Given the description of an element on the screen output the (x, y) to click on. 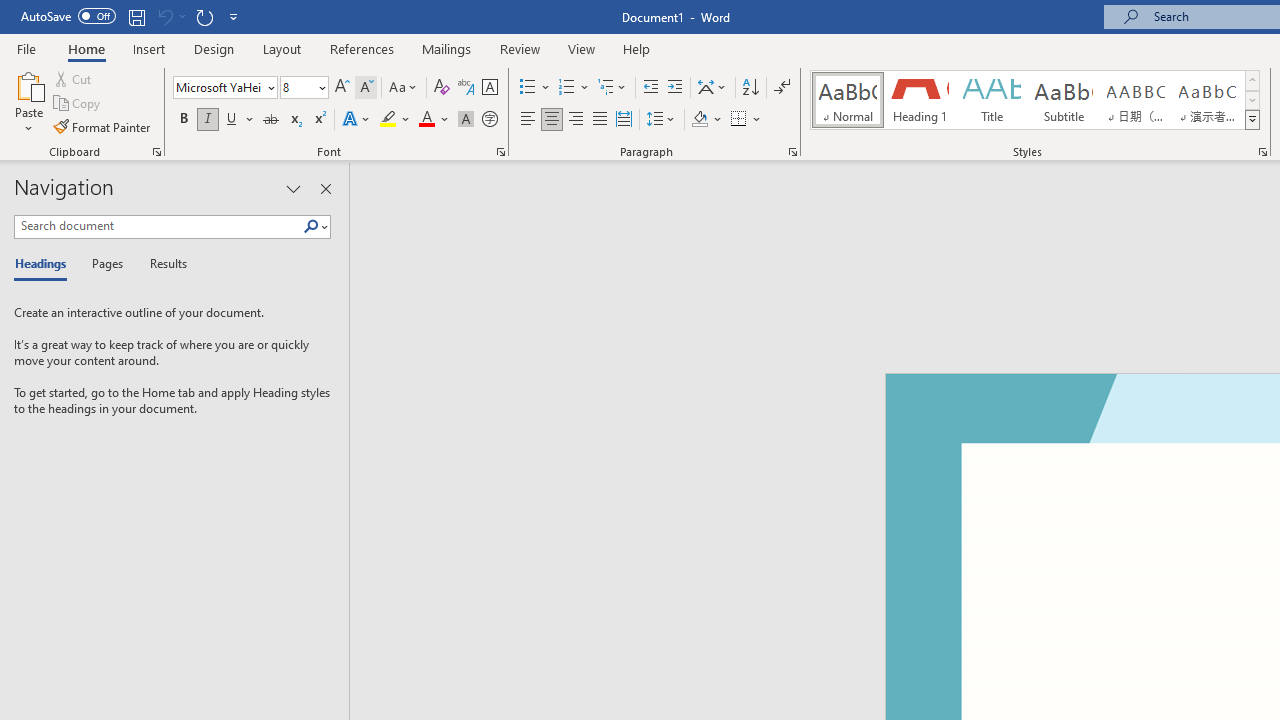
File Tab (26, 48)
Character Shading (465, 119)
Clear Formatting (442, 87)
Enclose Characters... (489, 119)
Close pane (325, 188)
Distributed (623, 119)
Shrink Font (365, 87)
Row up (1252, 79)
Paste (28, 102)
Cut (73, 78)
Bullets (527, 87)
Shading RGB(0, 0, 0) (699, 119)
Open (320, 87)
